Given the description of an element on the screen output the (x, y) to click on. 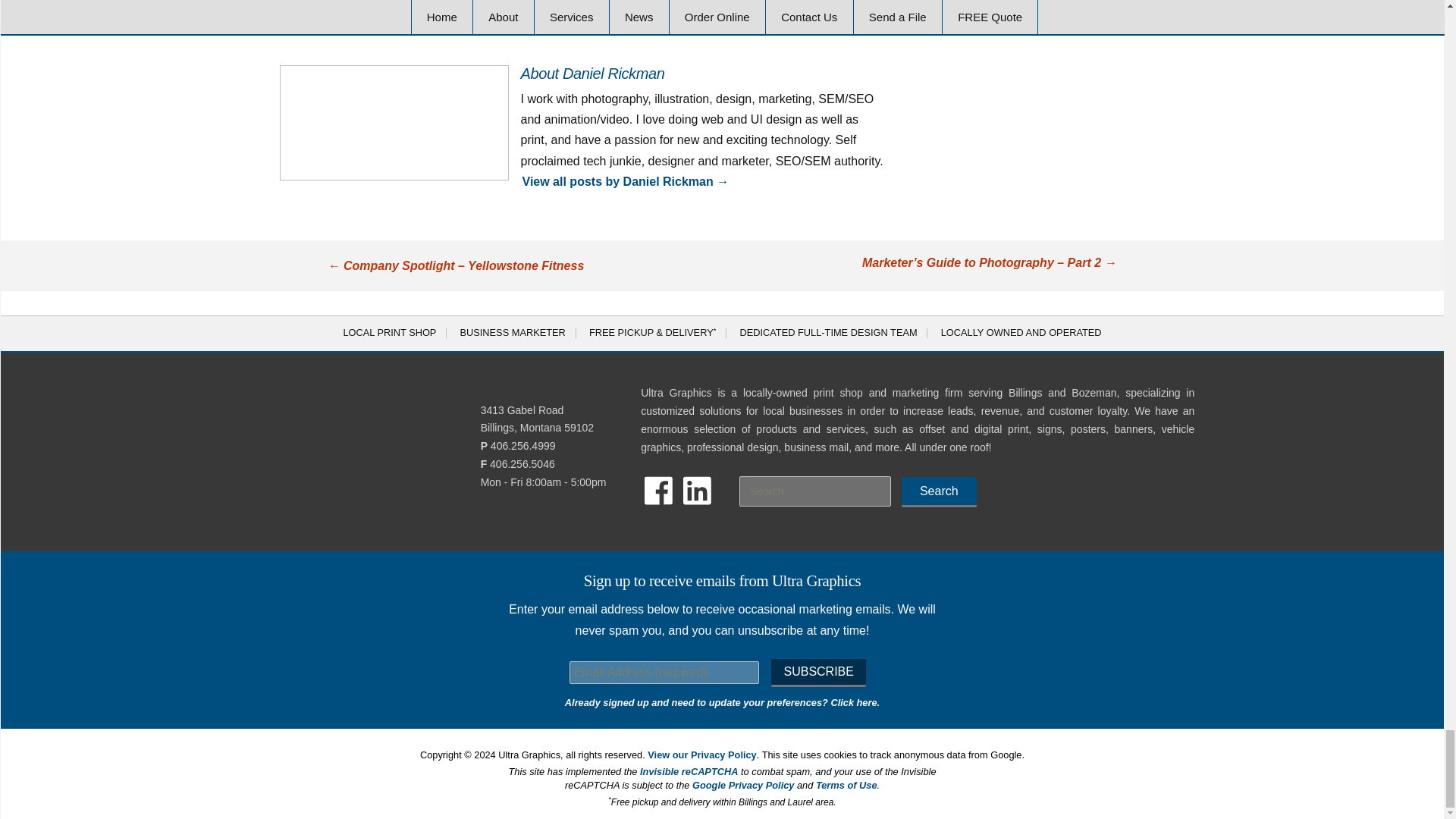
Google reCAPTCHA (689, 771)
click to view our privacy policy (701, 754)
Search (938, 491)
Dan Rickman, Marketing, Web Services, Large Format Manager (394, 122)
Subscribe (817, 673)
Search (938, 491)
